Given the description of an element on the screen output the (x, y) to click on. 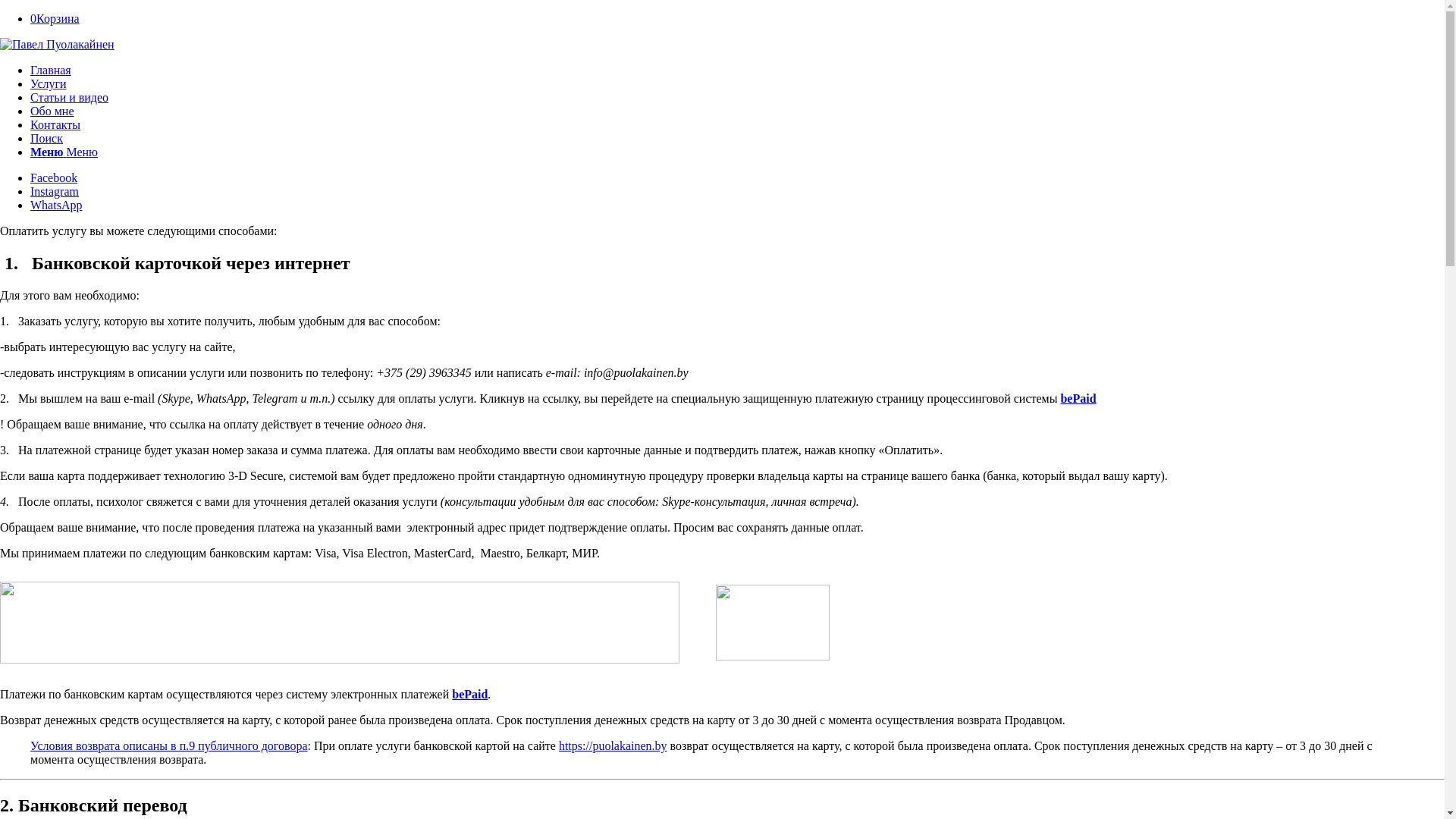
bePaid Element type: text (1077, 398)
bePaid Element type: text (469, 693)
https://puolakainen.by Element type: text (612, 745)
WhatsApp Element type: text (55, 204)
Facebook Element type: text (53, 177)
Instagram Element type: text (54, 191)
